Given the description of an element on the screen output the (x, y) to click on. 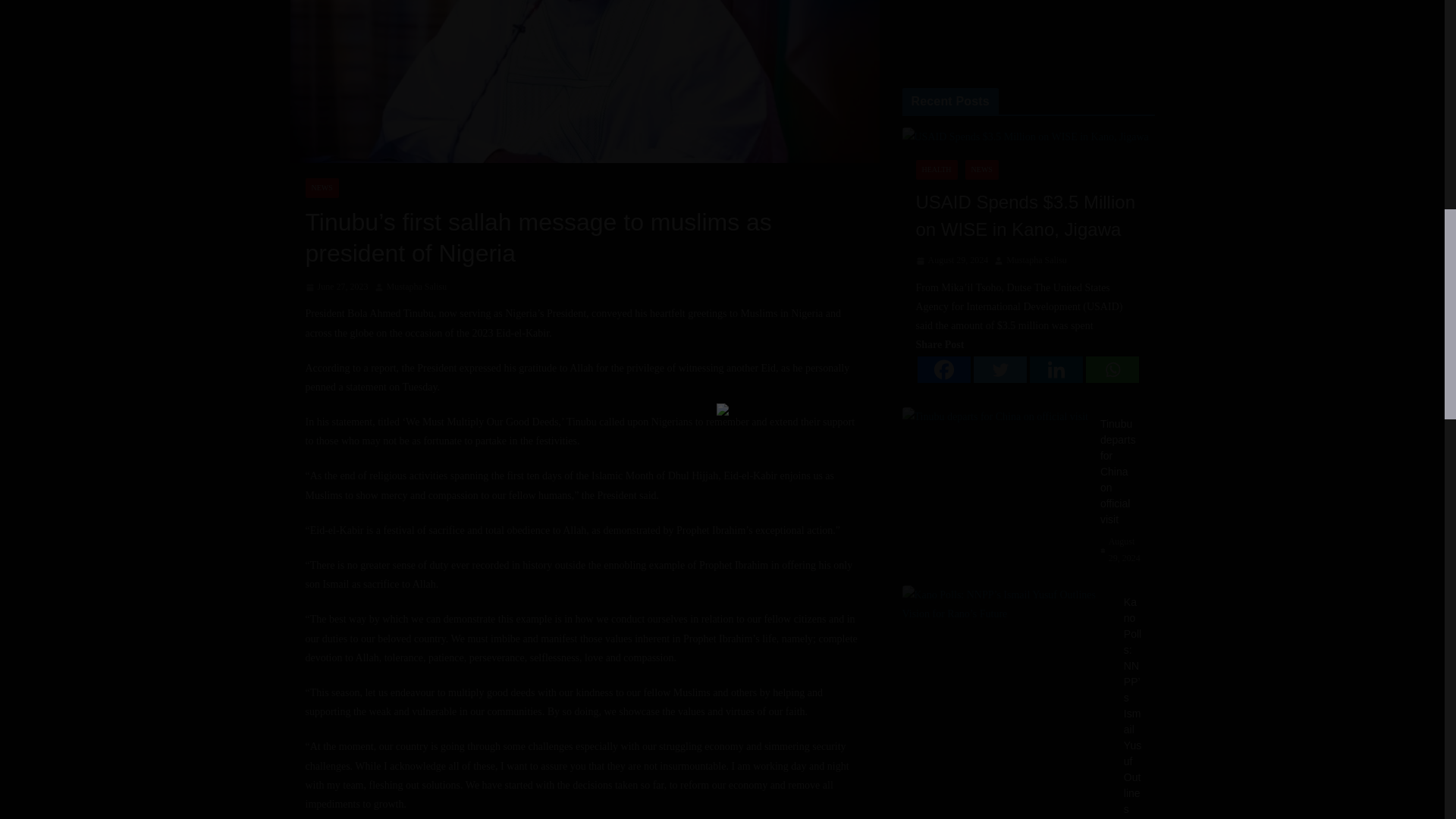
June 27, 2023 (336, 287)
Mustapha Salisu (416, 287)
7:48 pm (336, 287)
Mustapha Salisu (416, 287)
NEWS (320, 188)
